Given the description of an element on the screen output the (x, y) to click on. 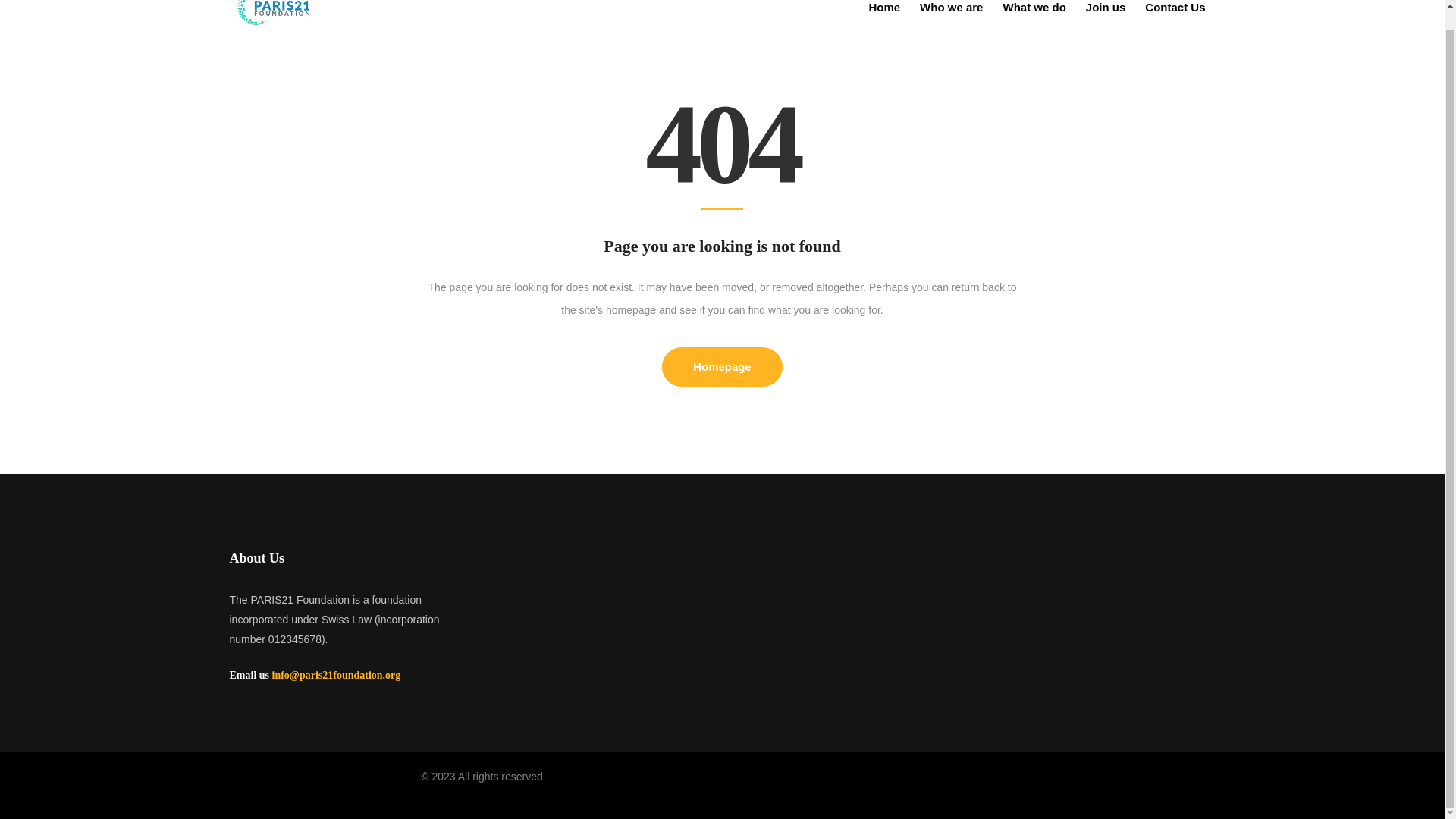
What we do (1033, 16)
Who we are (951, 16)
Join us (1105, 16)
Contact Us (1174, 16)
Home (884, 16)
